Given the description of an element on the screen output the (x, y) to click on. 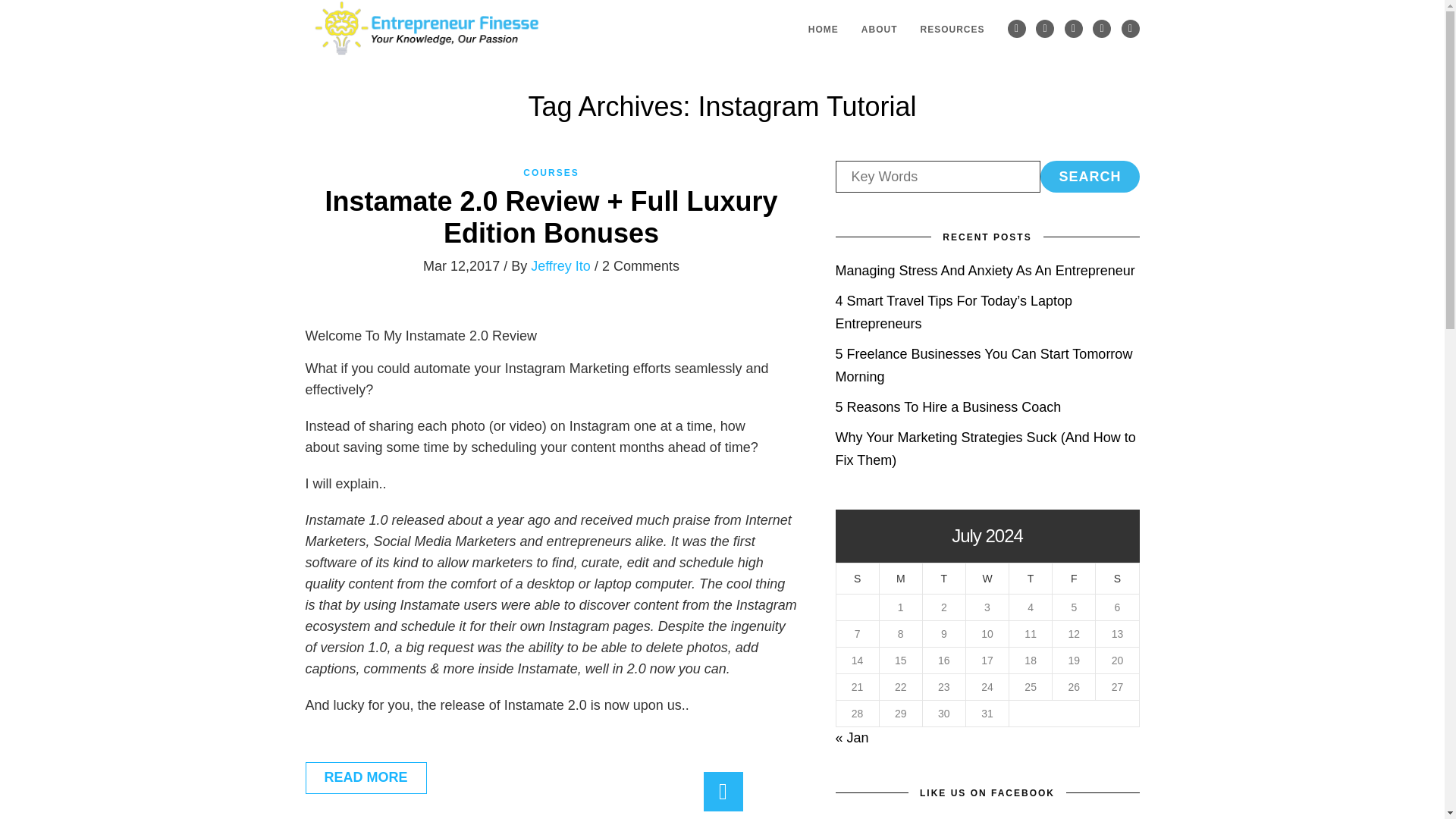
Tuesday (943, 577)
Search (1089, 176)
Thursday (1030, 577)
5 Reasons To Hire a Business Coach (948, 406)
ABOUT (879, 28)
Wednesday (987, 577)
Friday (1074, 577)
Jeffrey Ito (561, 265)
5 Freelance Businesses You Can Start Tomorrow Morning (983, 365)
Saturday (1117, 577)
Posts by Jeffrey Ito (561, 265)
RESOURCES (951, 28)
HOME (822, 28)
Managing Stress And Anxiety As An Entrepreneur (985, 270)
READ MORE (365, 777)
